Given the description of an element on the screen output the (x, y) to click on. 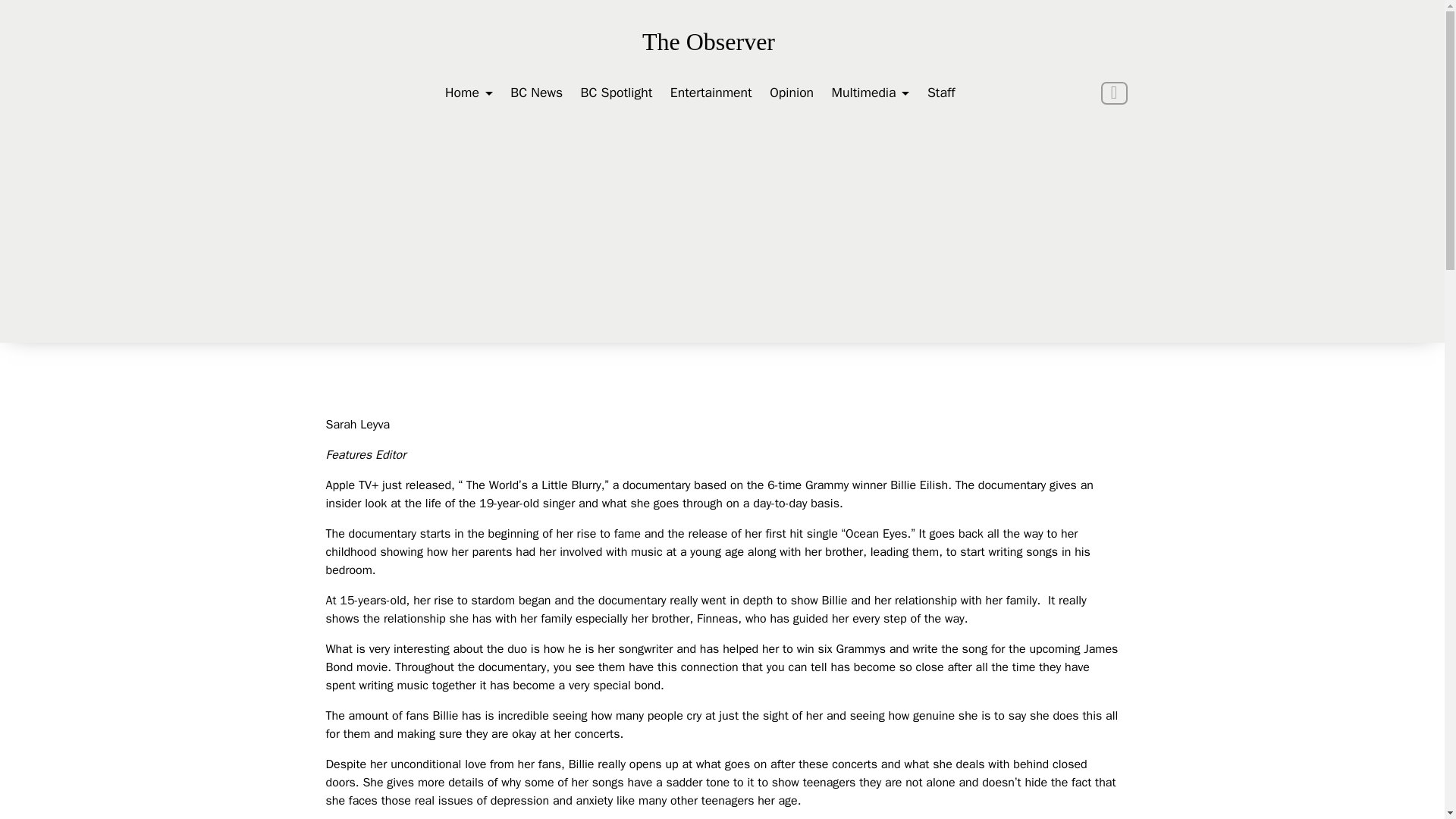
Opinion (791, 93)
TOGGLE SEARCH INTERFACE (1113, 92)
Multimedia (870, 93)
Entertainment (710, 93)
Home (469, 93)
Entertainment (710, 93)
BC News (536, 93)
Multimedia (870, 93)
Staff (941, 93)
BC Spotlight (616, 93)
BC News (536, 93)
The Observer (708, 42)
Home (469, 93)
BC Spotlight (616, 93)
Opinion (791, 93)
